Given the description of an element on the screen output the (x, y) to click on. 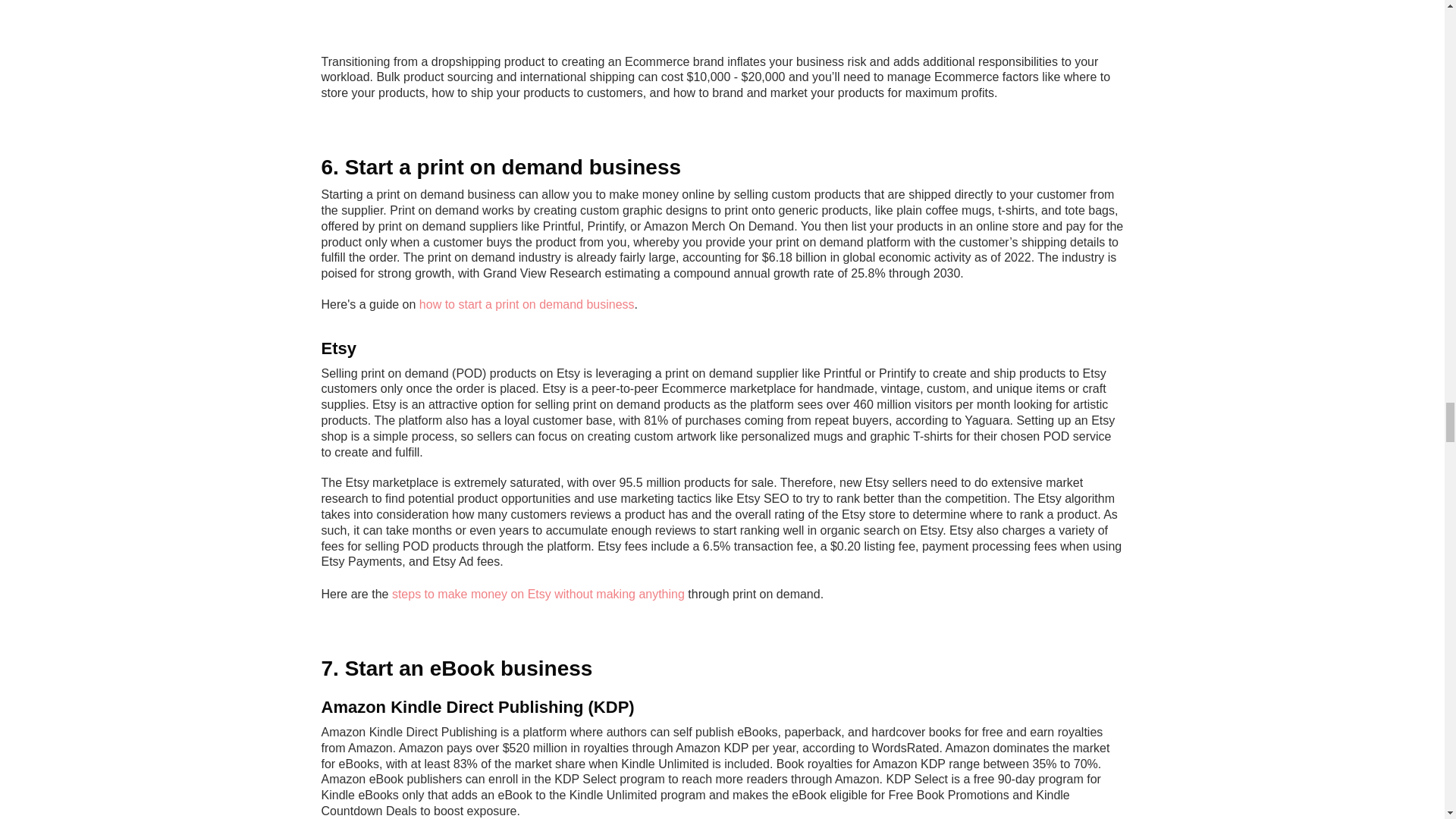
blendjet made in china (722, 21)
steps to make money on Etsy without making anything (537, 594)
how to start a print on demand business (526, 304)
